Given the description of an element on the screen output the (x, y) to click on. 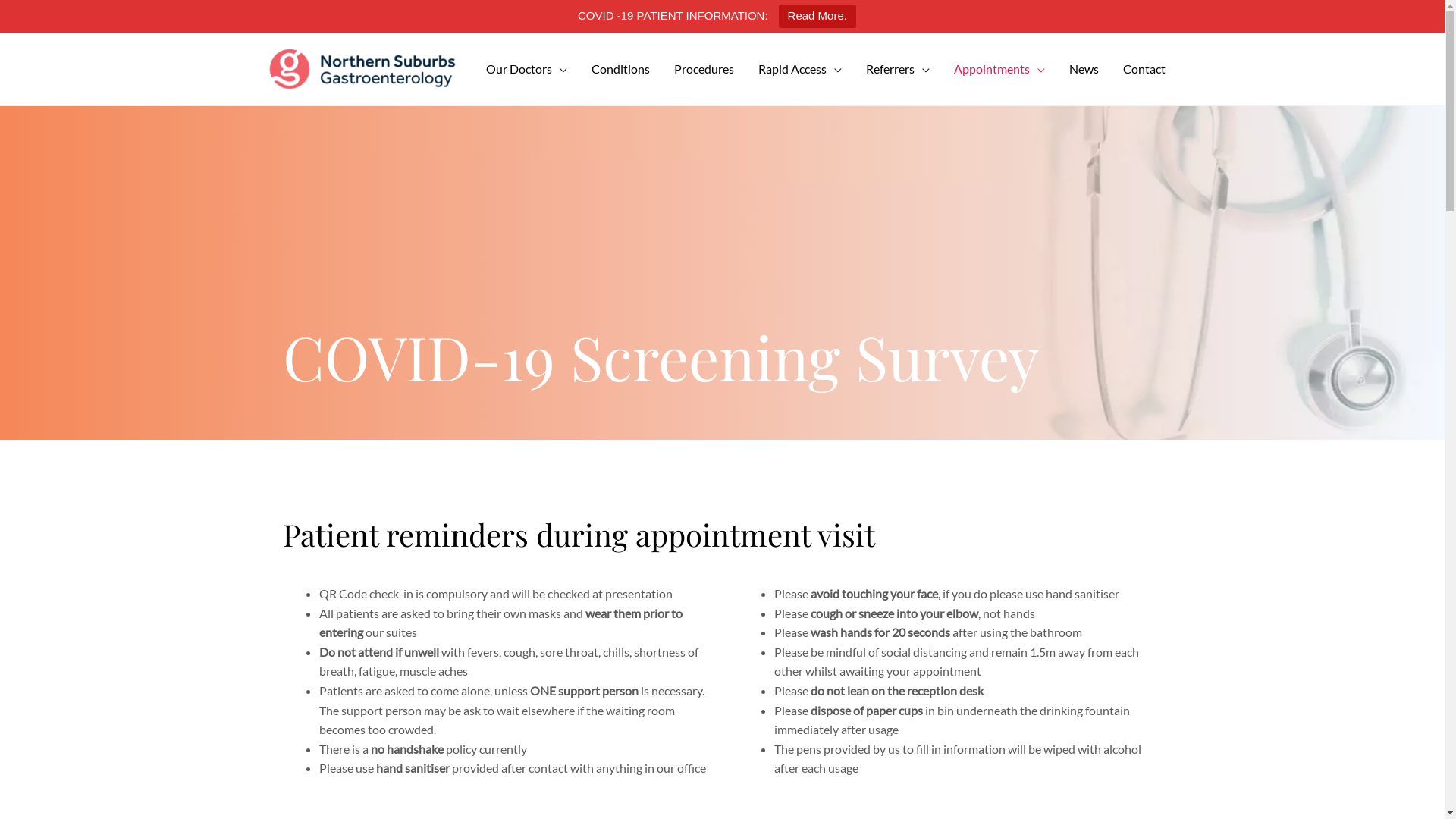
Referrers Element type: text (897, 68)
Our Doctors Element type: text (525, 68)
Read More. Element type: text (817, 16)
Procedures Element type: text (703, 68)
News Element type: text (1083, 68)
Contact Element type: text (1143, 68)
Appointments Element type: text (999, 68)
Rapid Access Element type: text (799, 68)
Conditions Element type: text (620, 68)
